Given the description of an element on the screen output the (x, y) to click on. 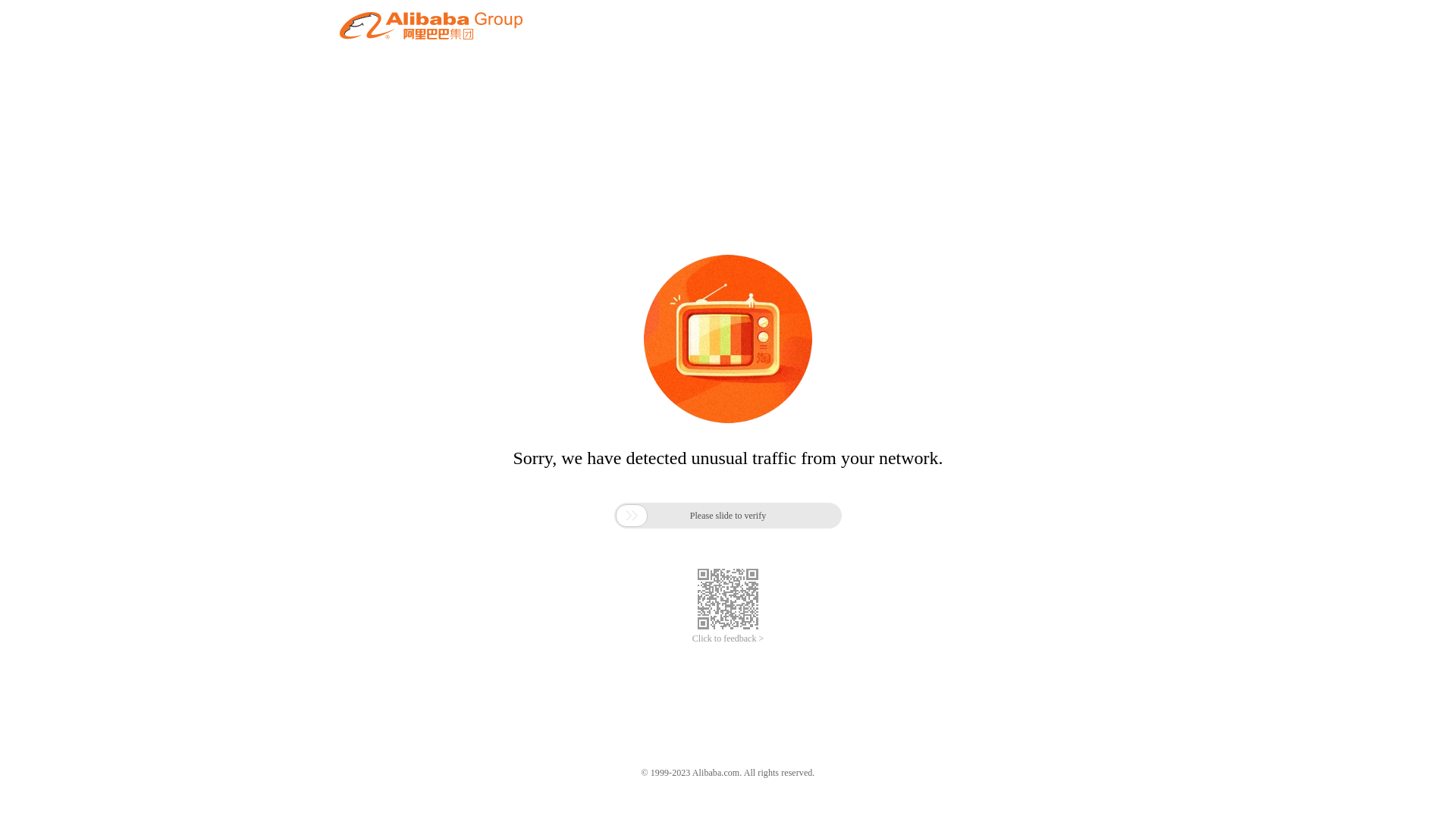
Click to feedback > Element type: text (727, 638)
